Given the description of an element on the screen output the (x, y) to click on. 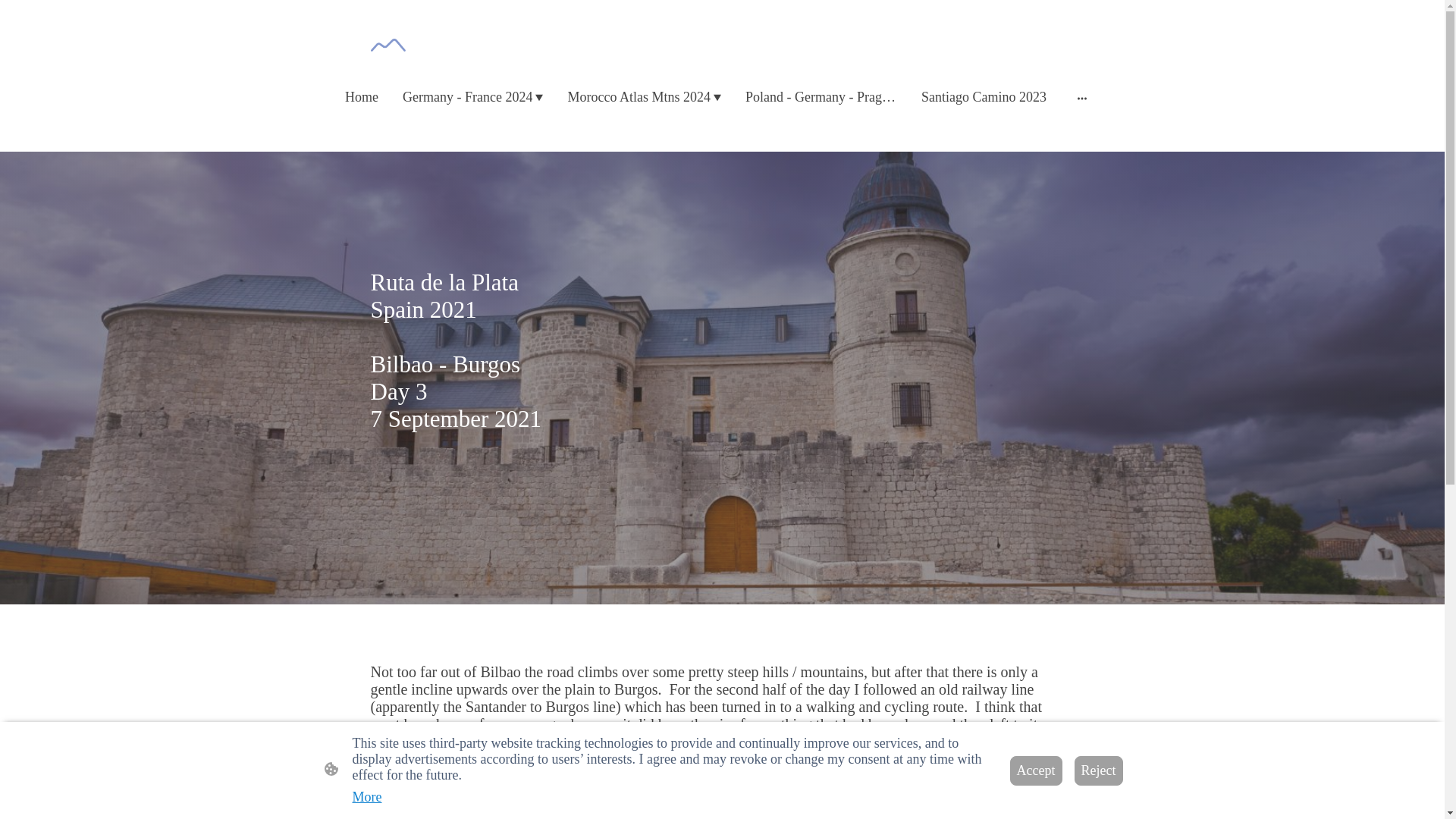
Germany - France 2024 (472, 97)
Home (361, 97)
